Given the description of an element on the screen output the (x, y) to click on. 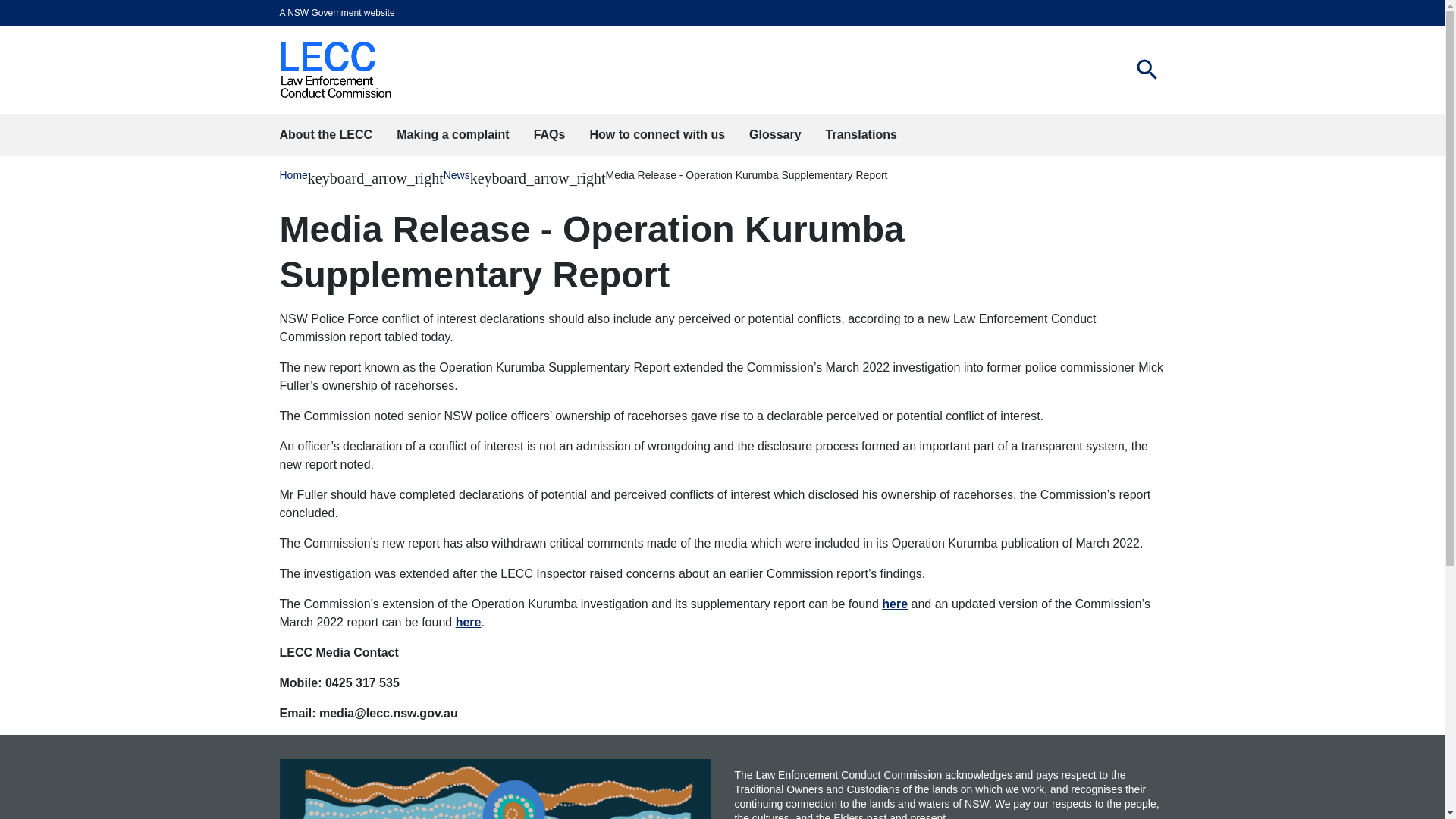
Law Enforcement Conduct Commission (335, 69)
Making a complaint (452, 134)
here (468, 621)
About the LECC (325, 134)
Translations (860, 134)
here (894, 603)
FAQs (549, 134)
Home (1146, 69)
Glossary (293, 174)
